Given the description of an element on the screen output the (x, y) to click on. 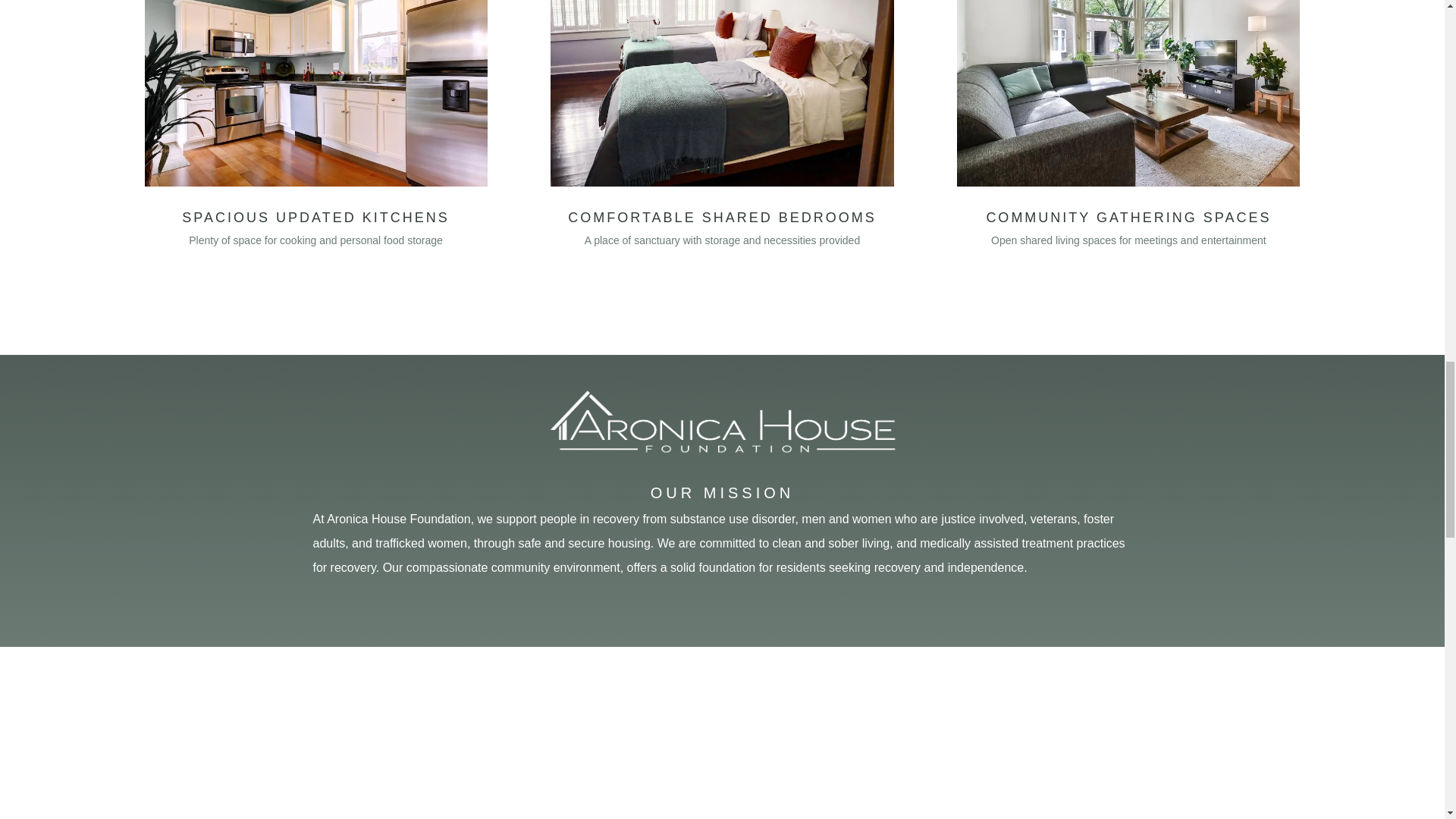
aronica shared bedroom3 (721, 93)
Spacious,Living,Room,With,A,Gray,Sofa,And,A,Fluffy (1128, 93)
aronica spacious kitchens (315, 93)
